Given the description of an element on the screen output the (x, y) to click on. 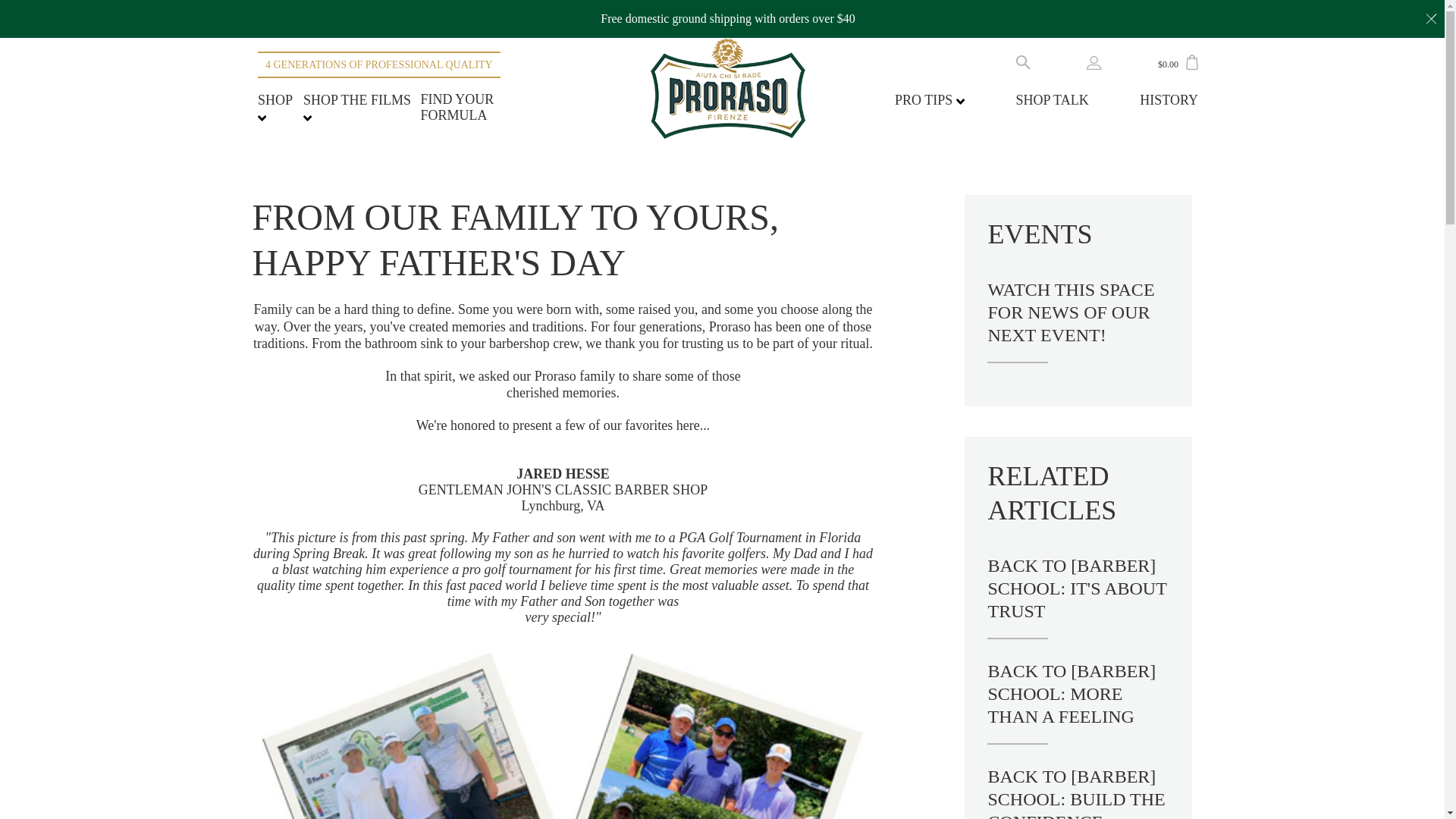
SHOP THE FILMS (356, 108)
SHOP (274, 108)
Search (1023, 61)
Proraso USA (727, 87)
ACCOUNT (1094, 62)
